Given the description of an element on the screen output the (x, y) to click on. 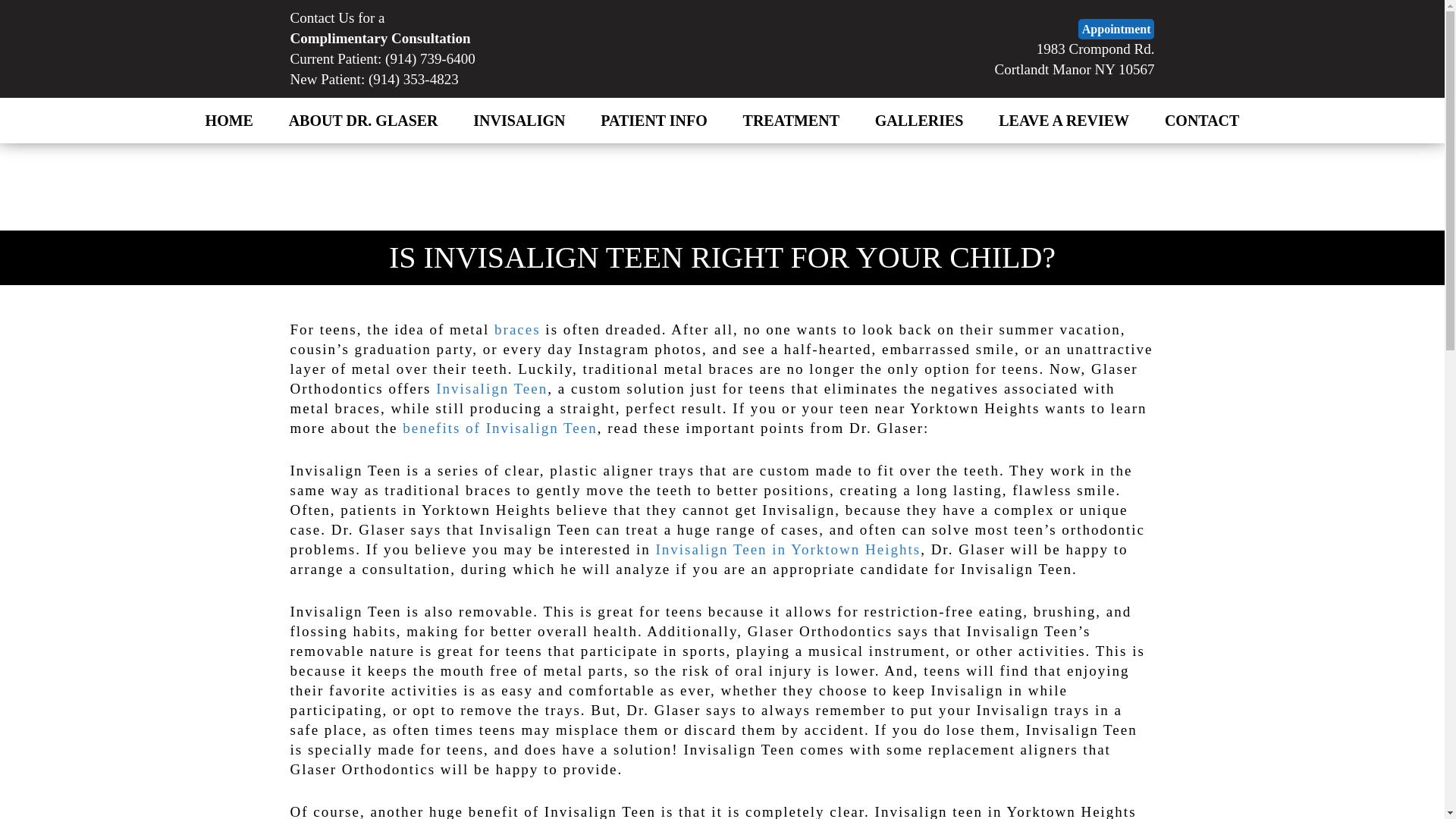
ABOUT DR. GLASER (362, 121)
Appointment (1116, 28)
PATIENT INFO (1074, 58)
INVISALIGN (653, 121)
HOME (518, 121)
